Given the description of an element on the screen output the (x, y) to click on. 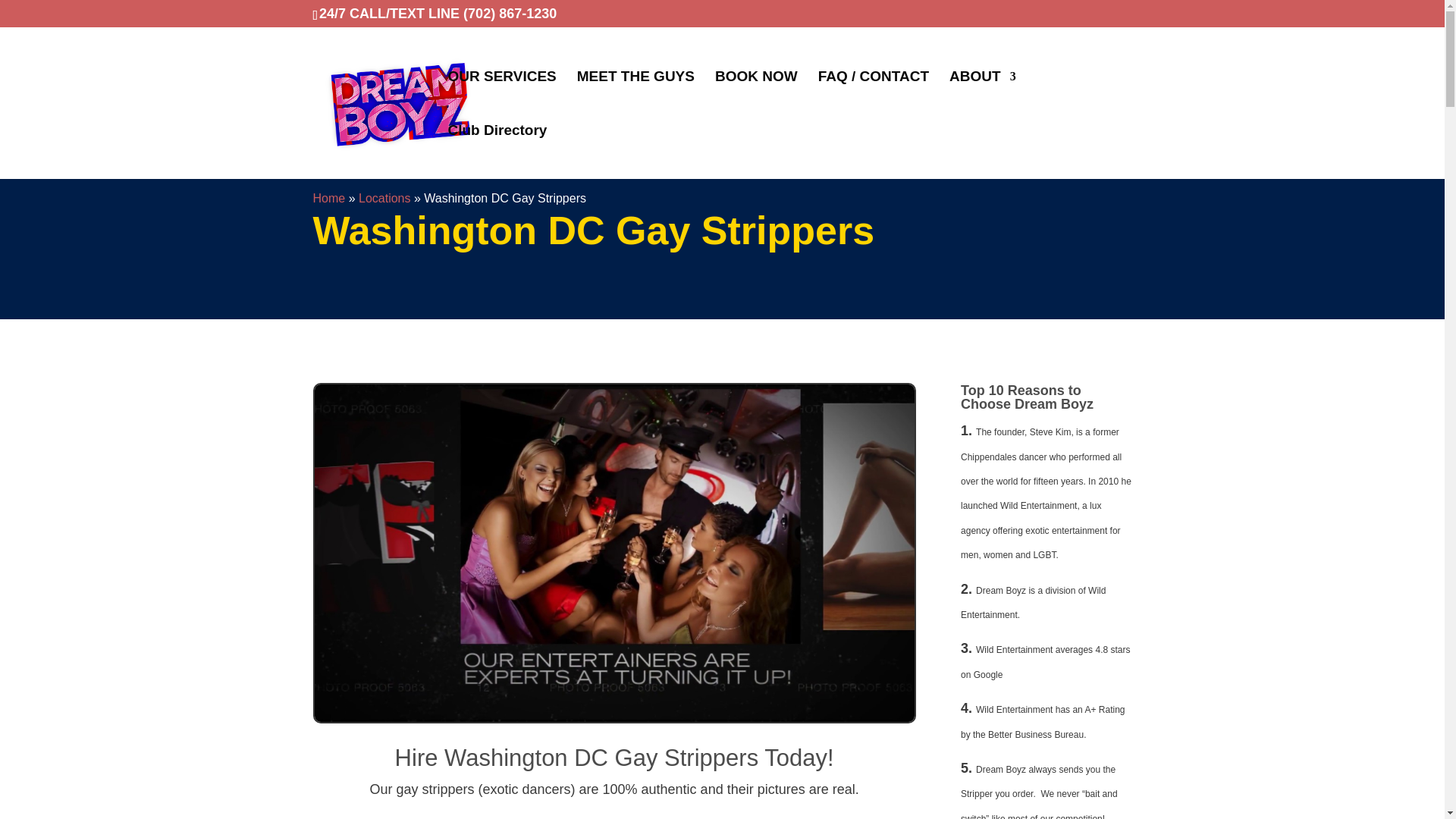
Club Directory (496, 152)
OUR SERVICES (501, 98)
Locations (384, 197)
ABOUT (982, 98)
MEET THE GUYS (635, 98)
BOOK NOW (755, 98)
Home (329, 197)
